Given the description of an element on the screen output the (x, y) to click on. 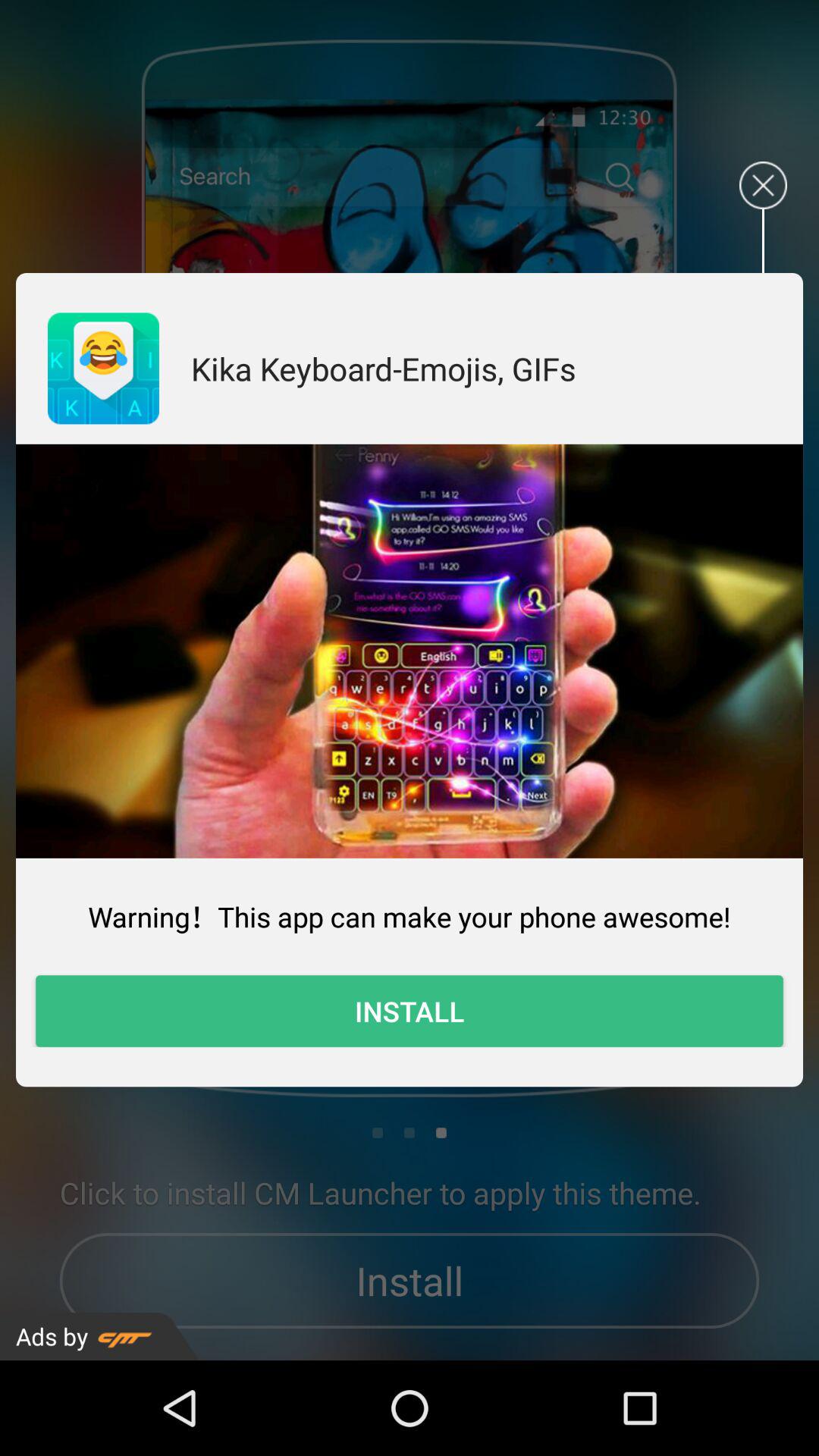
click icon to the left of kika keyboard emojis (103, 368)
